Given the description of an element on the screen output the (x, y) to click on. 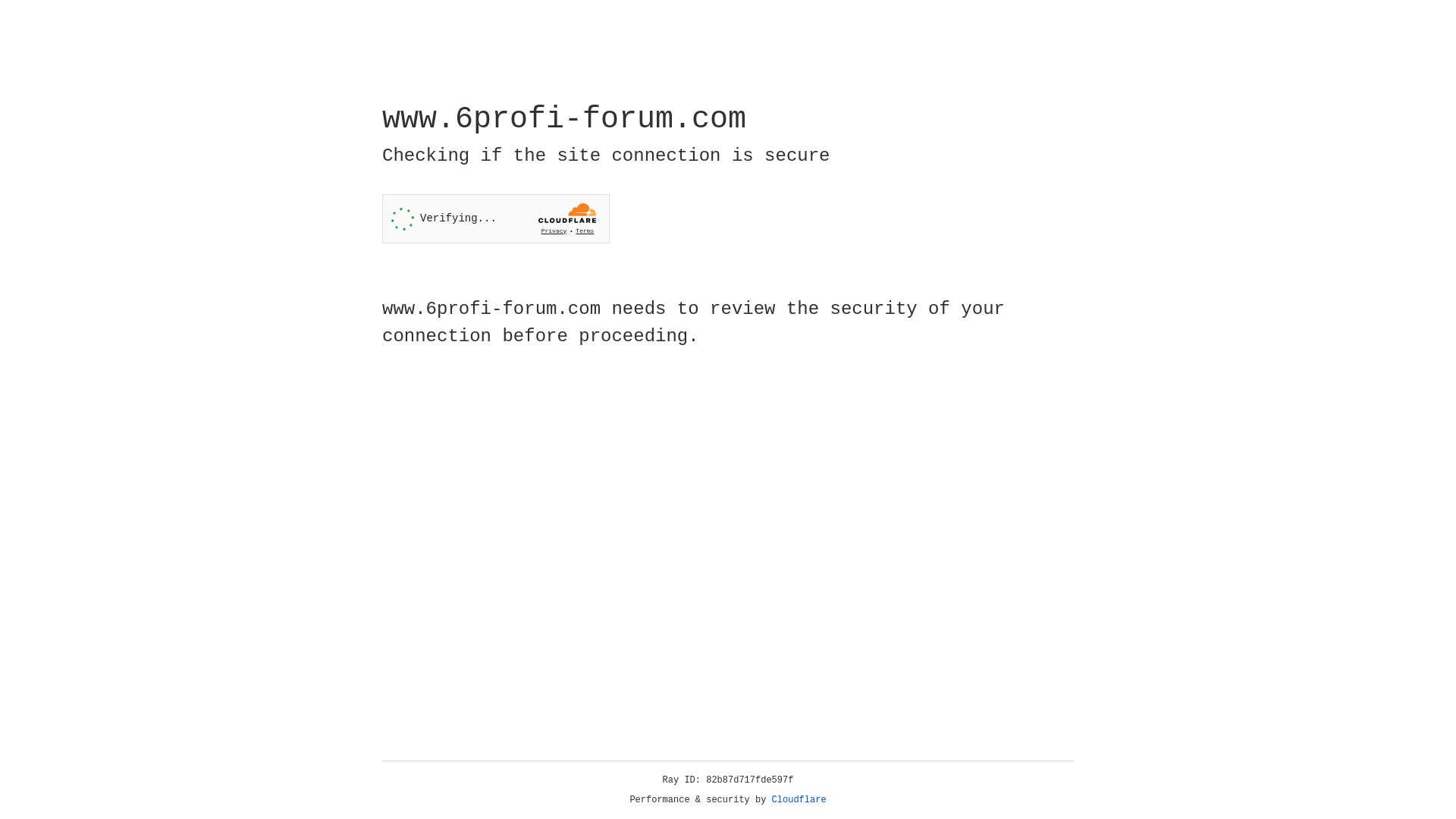
Widget containing a Cloudflare security challenge Element type: hover (495, 218)
Cloudflare Element type: text (798, 799)
